Given the description of an element on the screen output the (x, y) to click on. 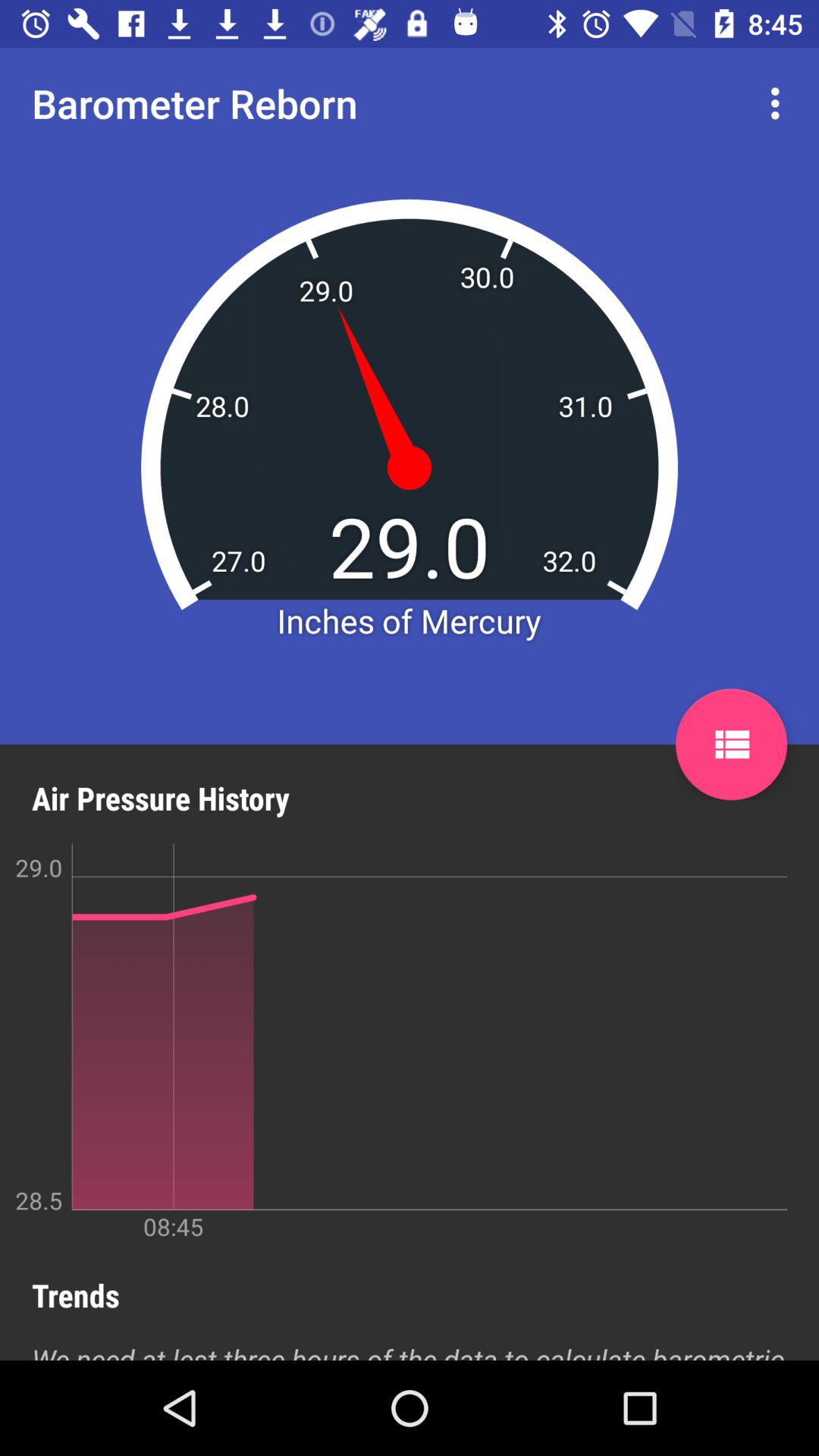
select icon at the top right corner (779, 103)
